Given the description of an element on the screen output the (x, y) to click on. 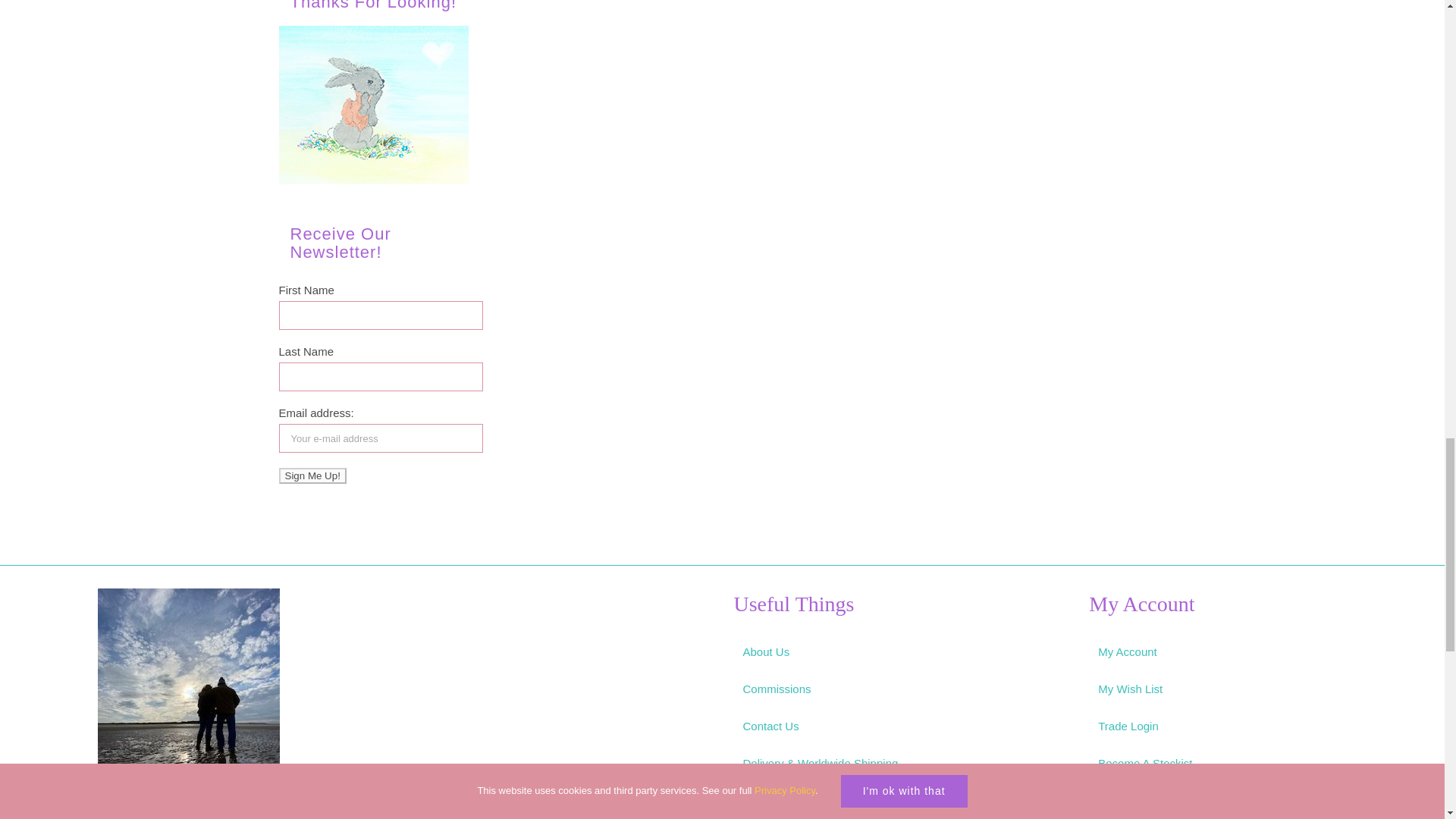
Sign Me Up! (312, 475)
